Given the description of an element on the screen output the (x, y) to click on. 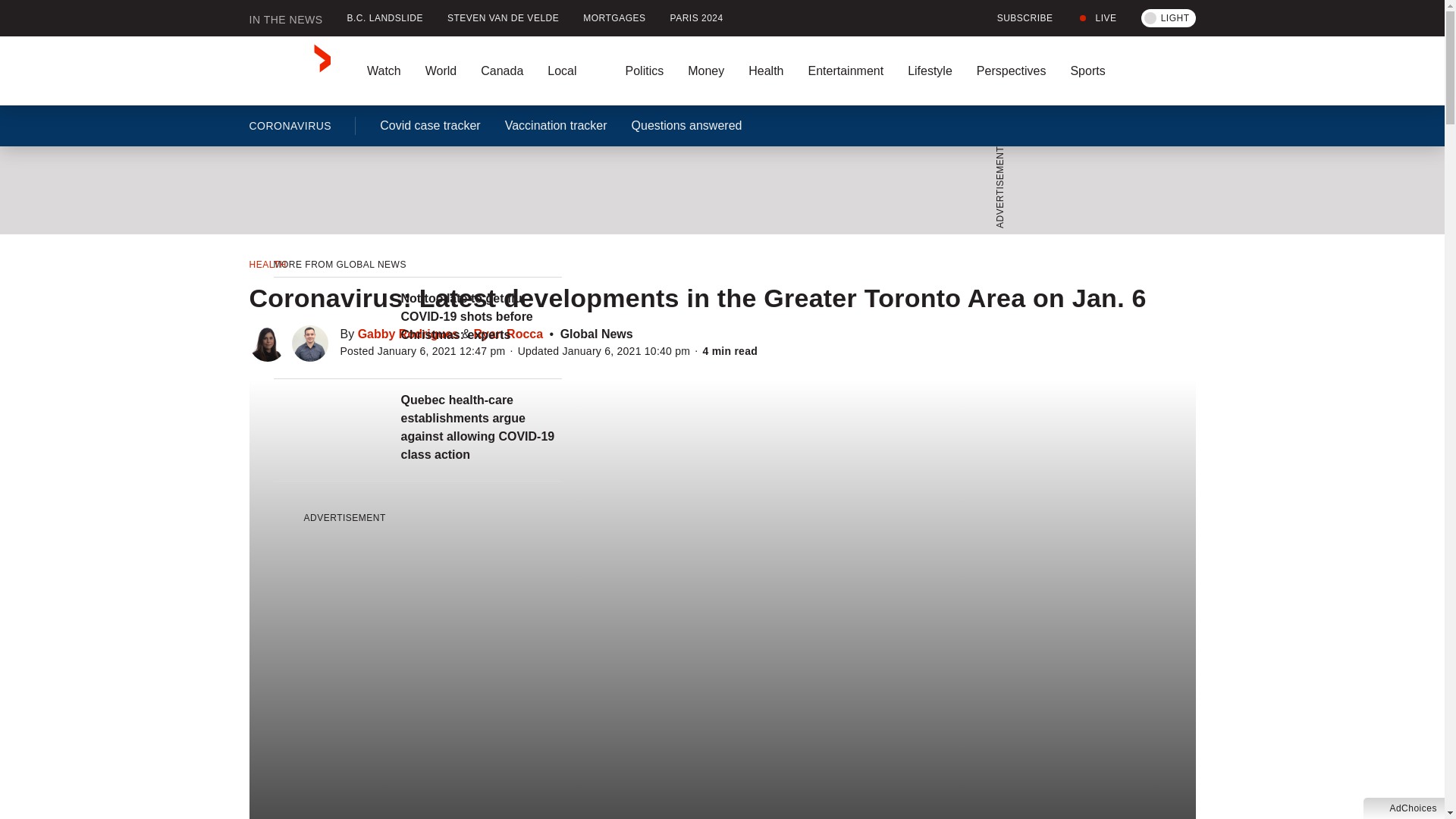
MORTGAGES (614, 18)
Canada (501, 70)
LIVE (1096, 18)
Posts by Gabby Rodrigues (408, 334)
B.C. LANDSLIDE (384, 18)
Posts by Ryan Rocca (508, 334)
Local (573, 70)
Lifestyle (929, 70)
SUBSCRIBE (1015, 18)
PARIS 2024 (696, 18)
Perspectives (1010, 70)
Politics (643, 70)
GlobalNews home (289, 70)
